Given the description of an element on the screen output the (x, y) to click on. 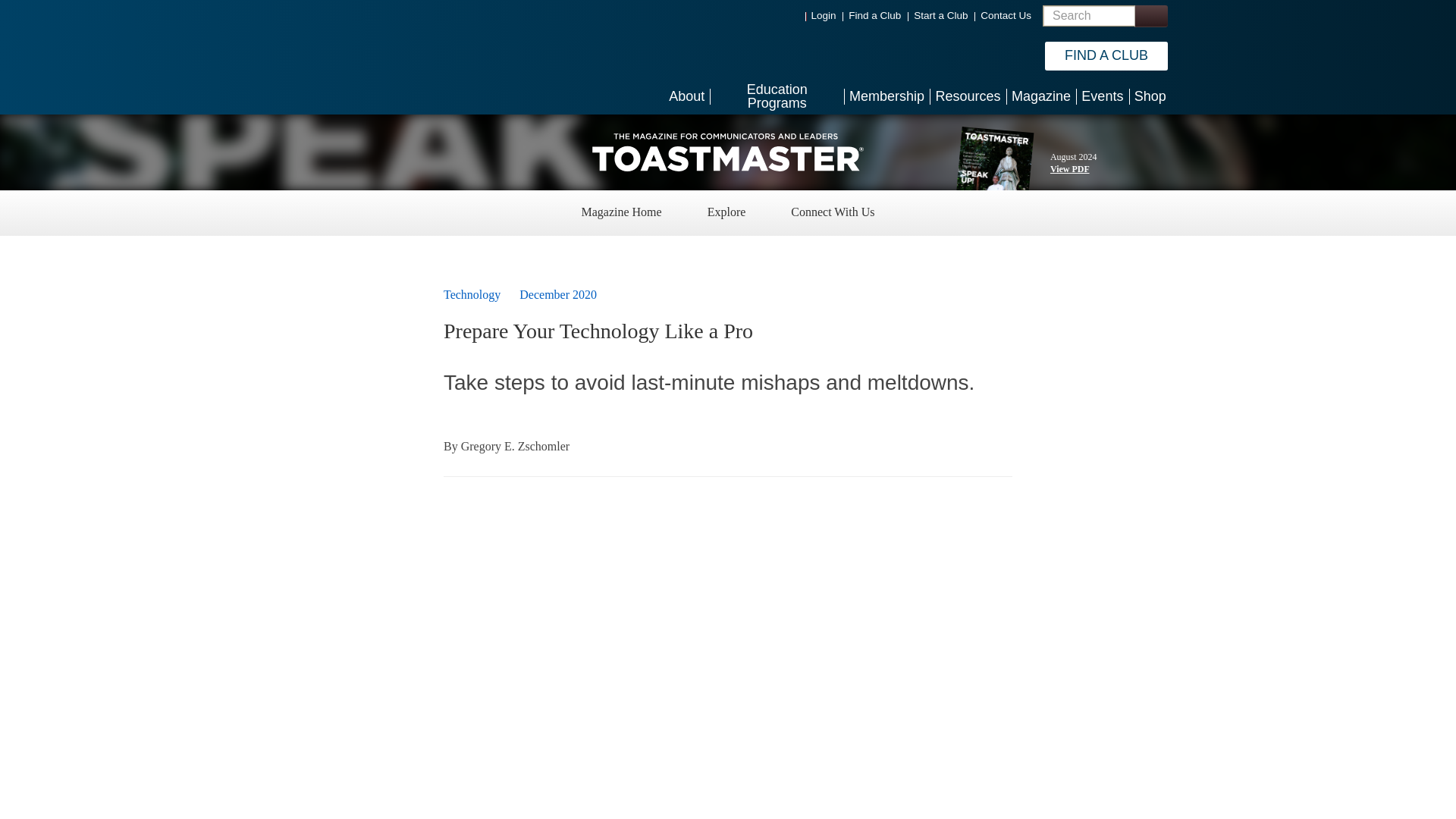
Contact Us (1004, 15)
Events (1101, 95)
Magazine (1040, 95)
Login (822, 15)
Shop (1150, 95)
Search (1150, 15)
FIND A CLUB (1106, 55)
Explore (726, 213)
Membership (887, 95)
toastmasters (727, 151)
December 2020 (557, 294)
Gregory E. Zschomler (515, 445)
Education Programs (776, 95)
Magazine Home (620, 213)
Technology (472, 294)
